Given the description of an element on the screen output the (x, y) to click on. 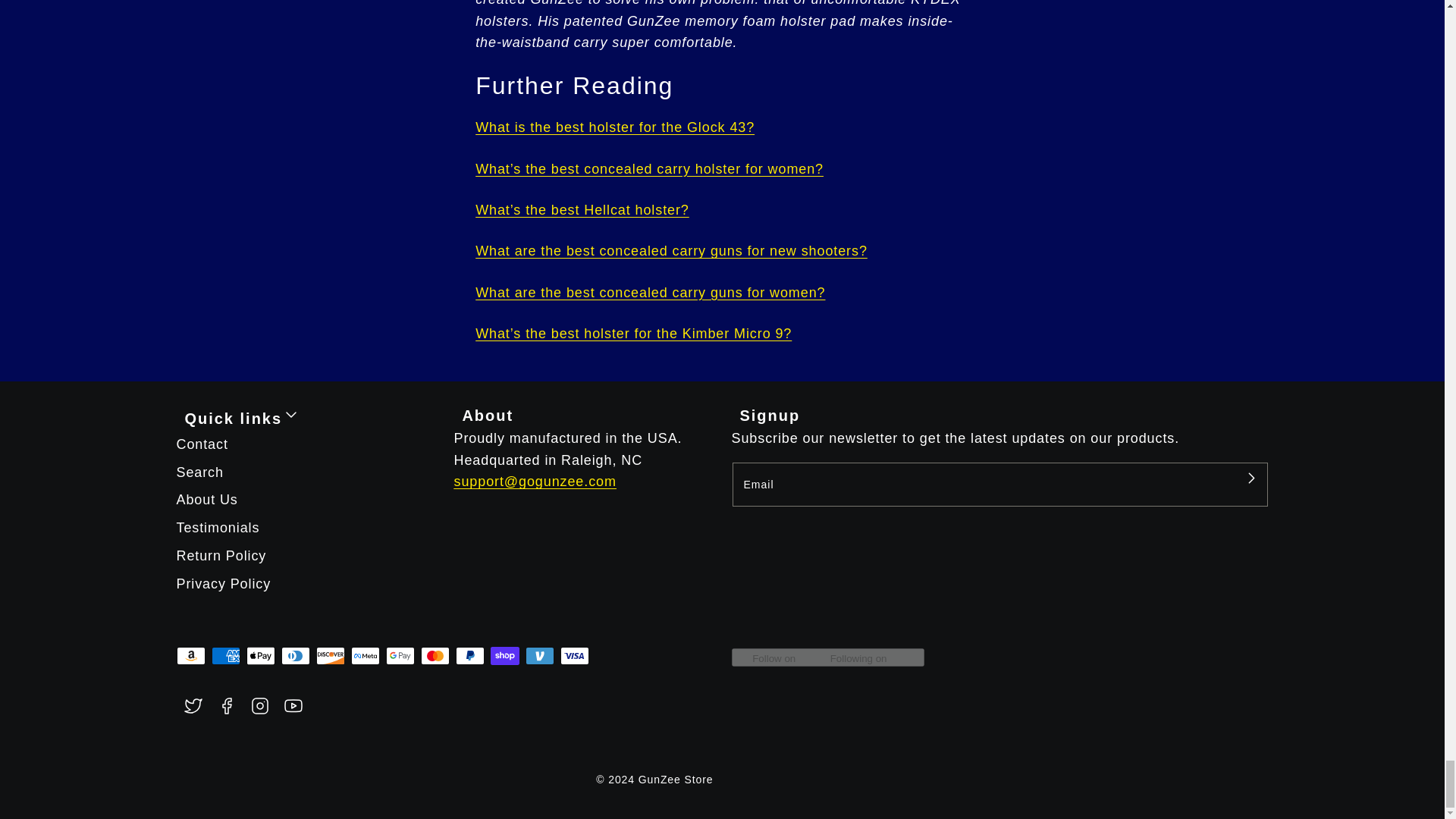
Diners Club (294, 656)
Google Pay (399, 656)
Discover (329, 656)
Visa (573, 656)
Meta Pay (364, 656)
Mastercard (434, 656)
Shop Pay (503, 656)
PayPal (468, 656)
American Express (225, 656)
Amazon (190, 656)
